Given the description of an element on the screen output the (x, y) to click on. 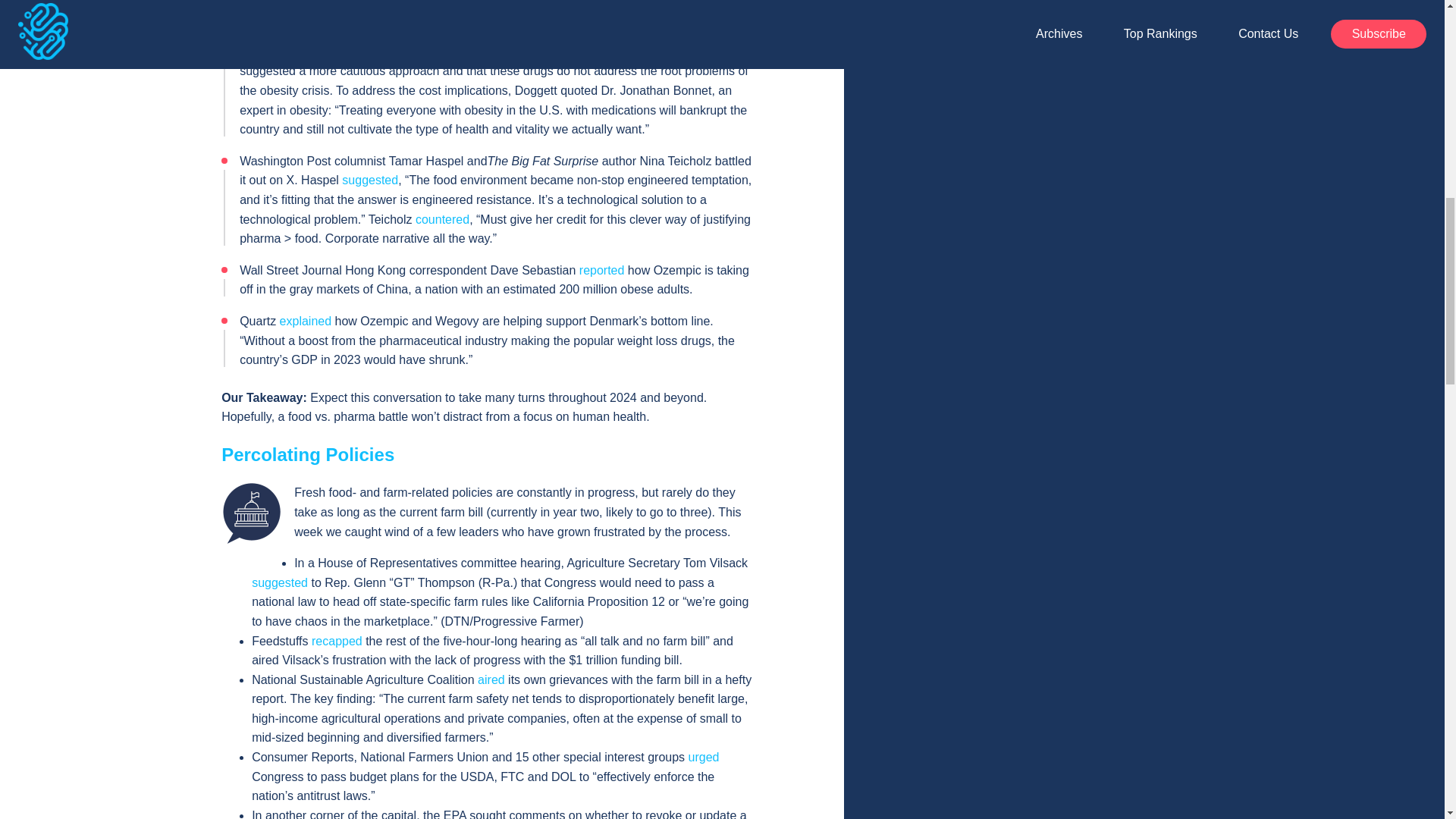
ran (276, 51)
reported (601, 269)
explained (305, 320)
aired (491, 679)
suggested (369, 179)
recapped (336, 640)
countered (441, 219)
suggested (279, 582)
urged (703, 757)
